Given the description of an element on the screen output the (x, y) to click on. 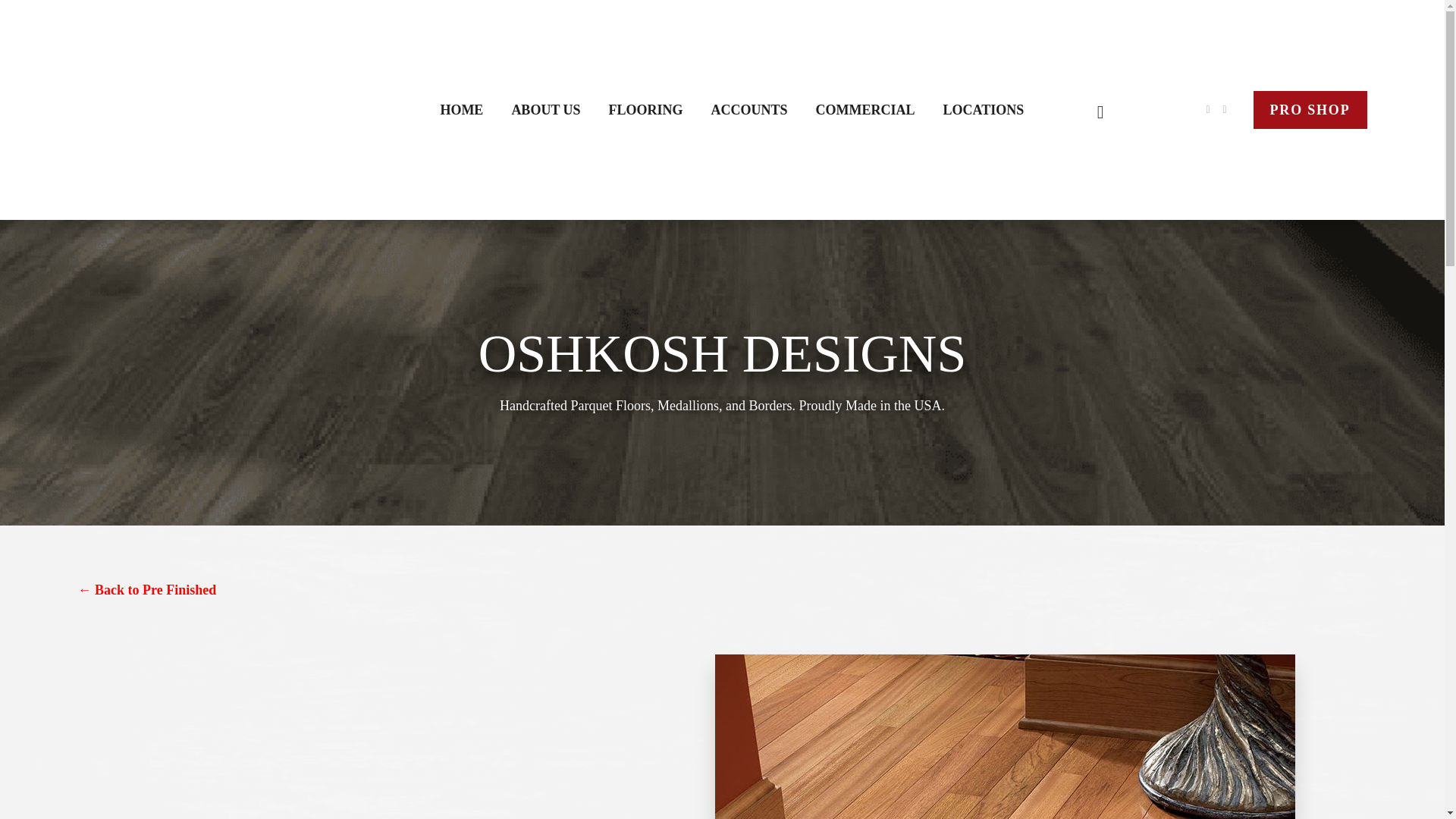
Contractor (1309, 109)
PRO SHOP (1309, 109)
OSHKOSH-DESIGNS (1004, 736)
